Given the description of an element on the screen output the (x, y) to click on. 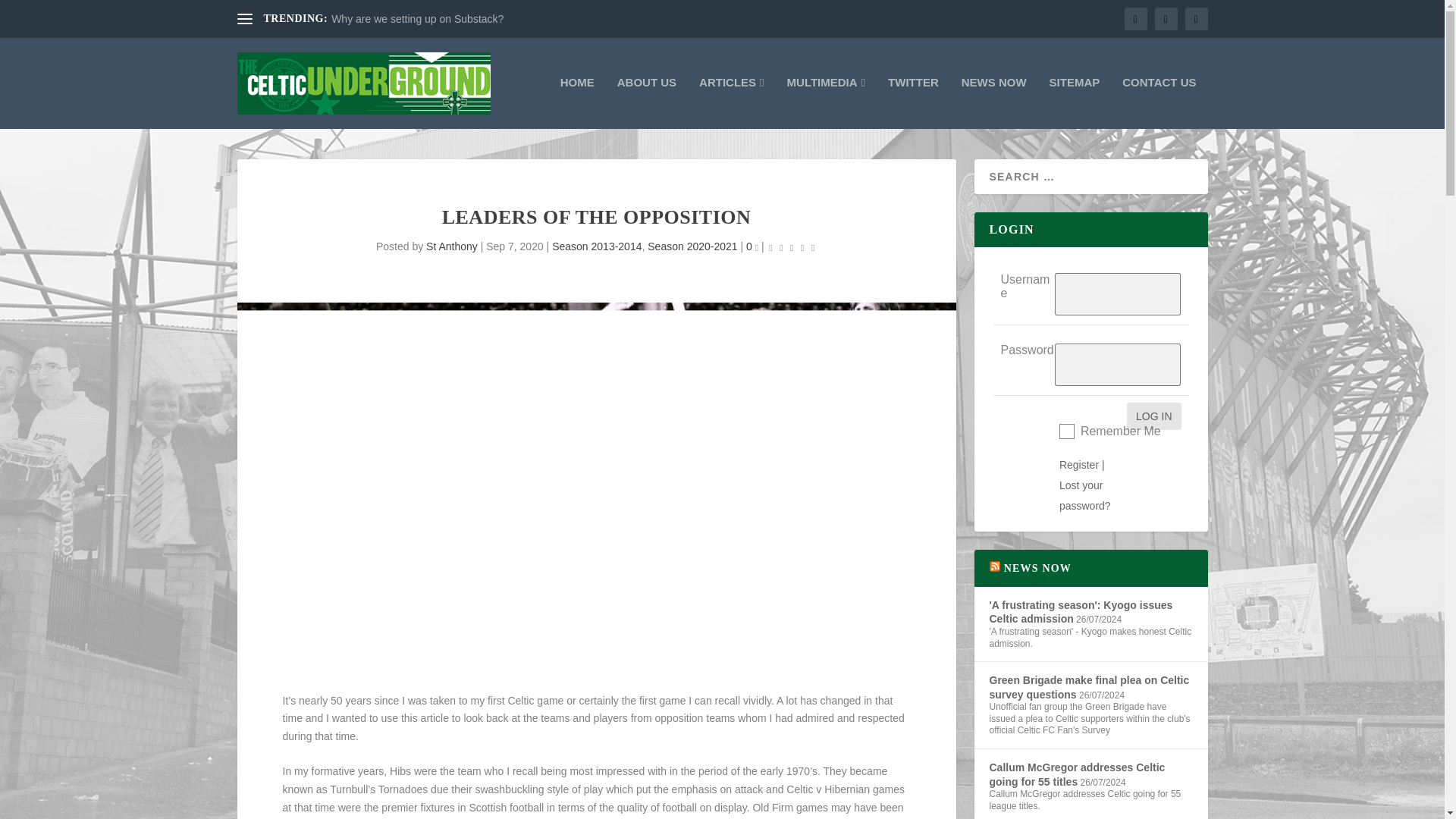
comment count (756, 248)
Posts by St Anthony (451, 246)
Rating: 3.00 (791, 247)
Log In (1153, 415)
Why are we setting up on Substack? (417, 19)
